Given the description of an element on the screen output the (x, y) to click on. 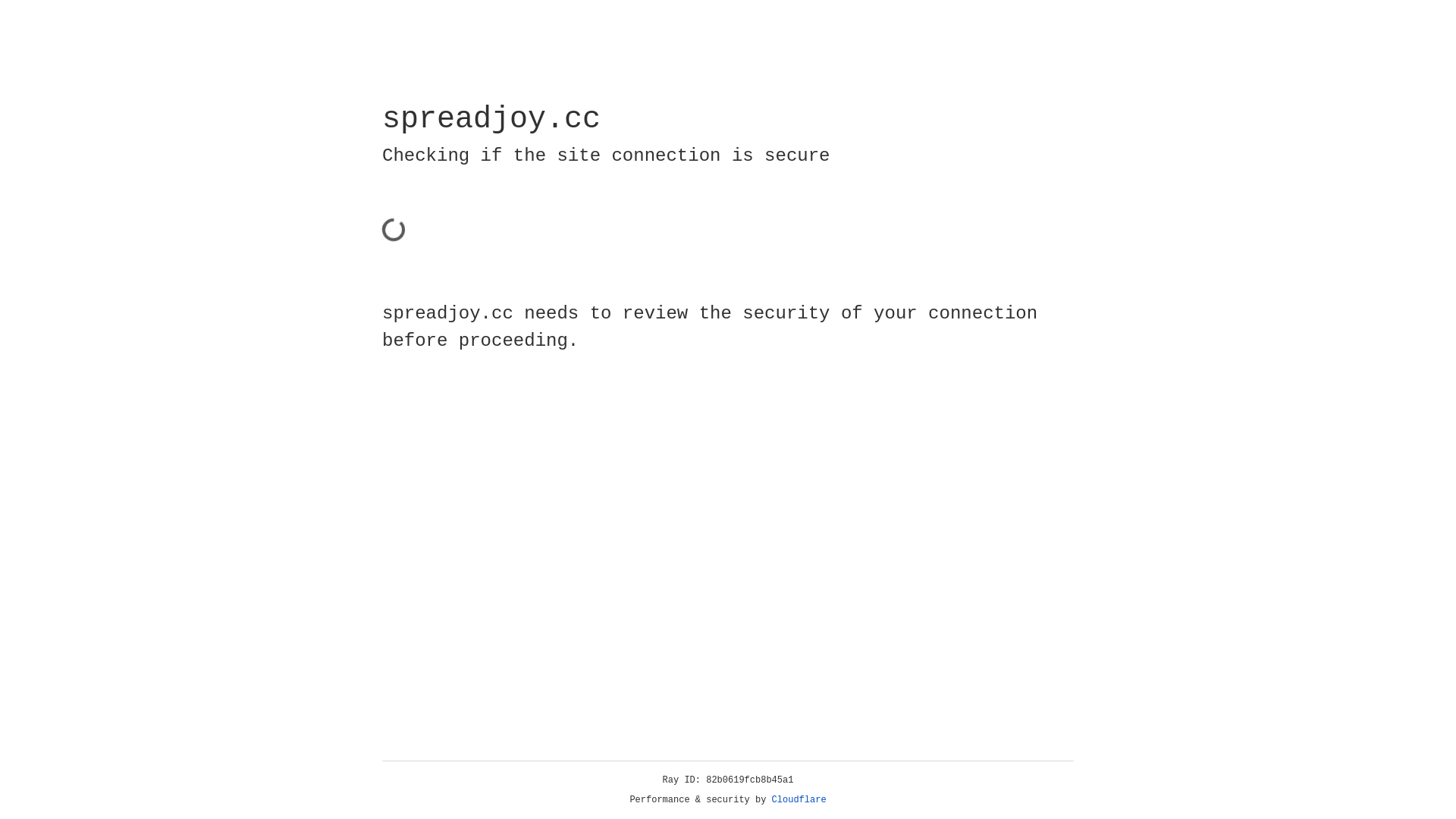
Cloudflare Element type: text (798, 799)
